Given the description of an element on the screen output the (x, y) to click on. 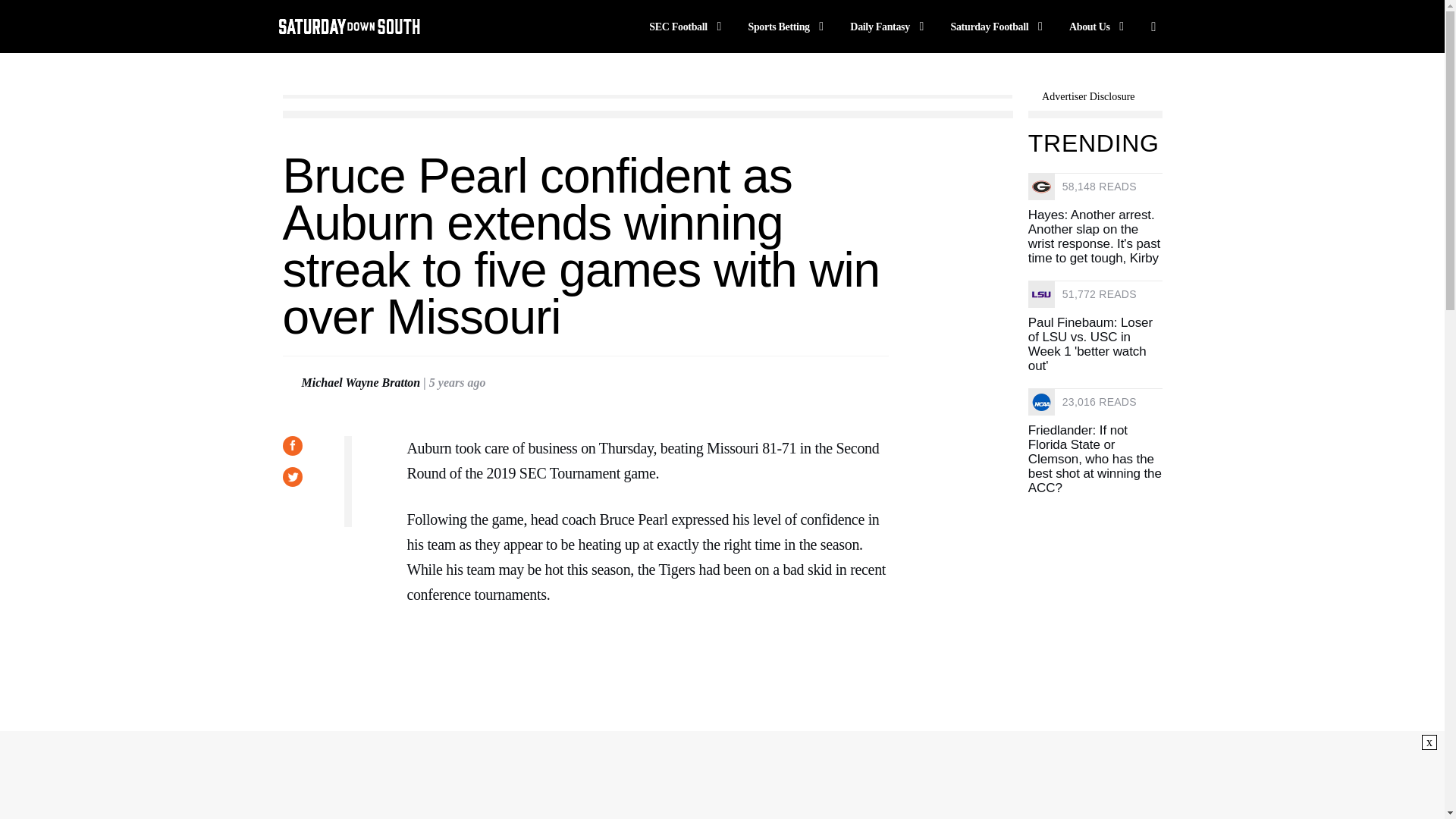
SEC Football (687, 26)
